Given the description of an element on the screen output the (x, y) to click on. 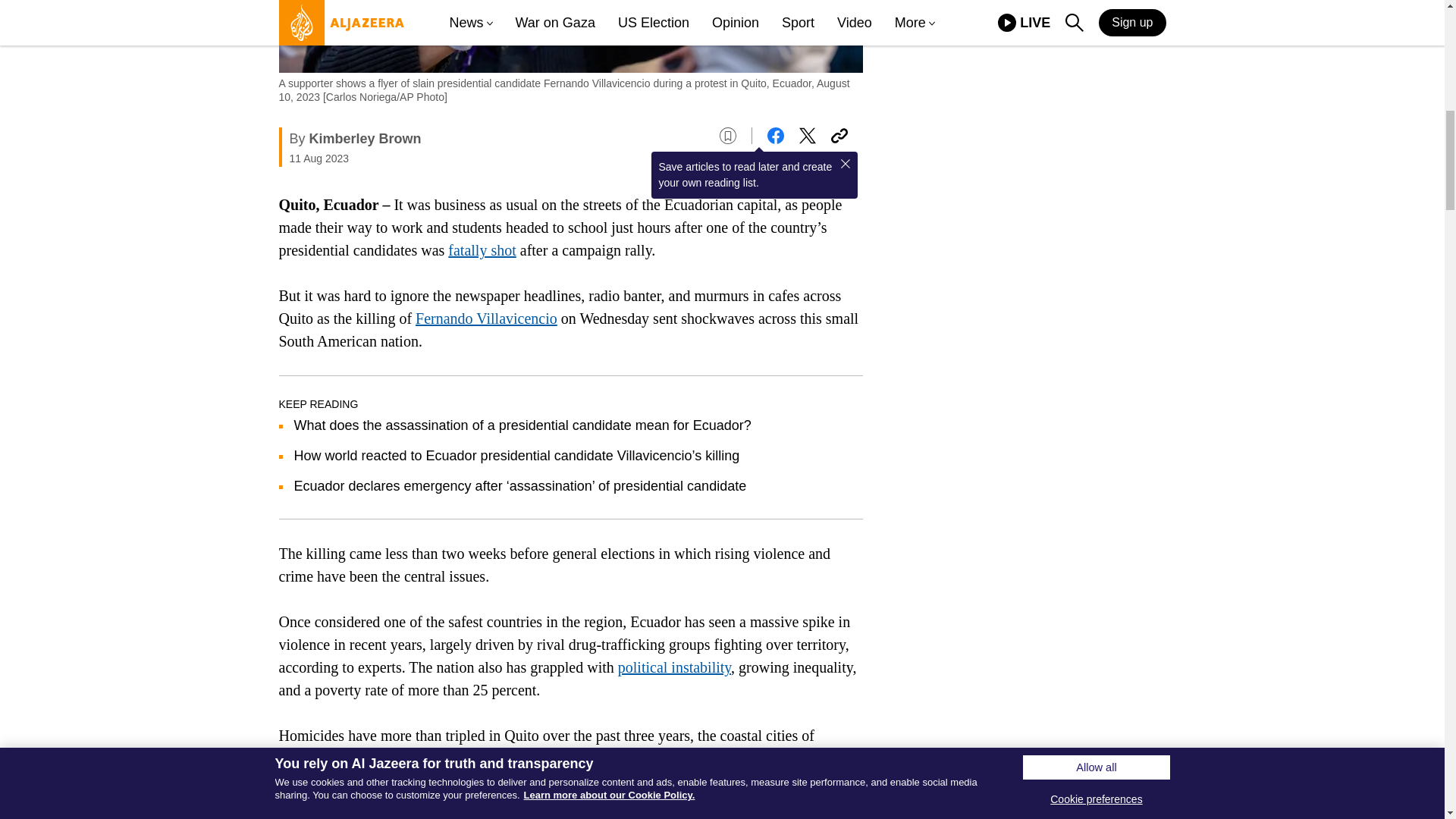
Kimberley Brown (365, 138)
copylink (839, 135)
twitter (807, 135)
Close Tooltip (844, 163)
twitter (807, 135)
facebook (775, 135)
facebook (775, 135)
copylink (839, 135)
